Given the description of an element on the screen output the (x, y) to click on. 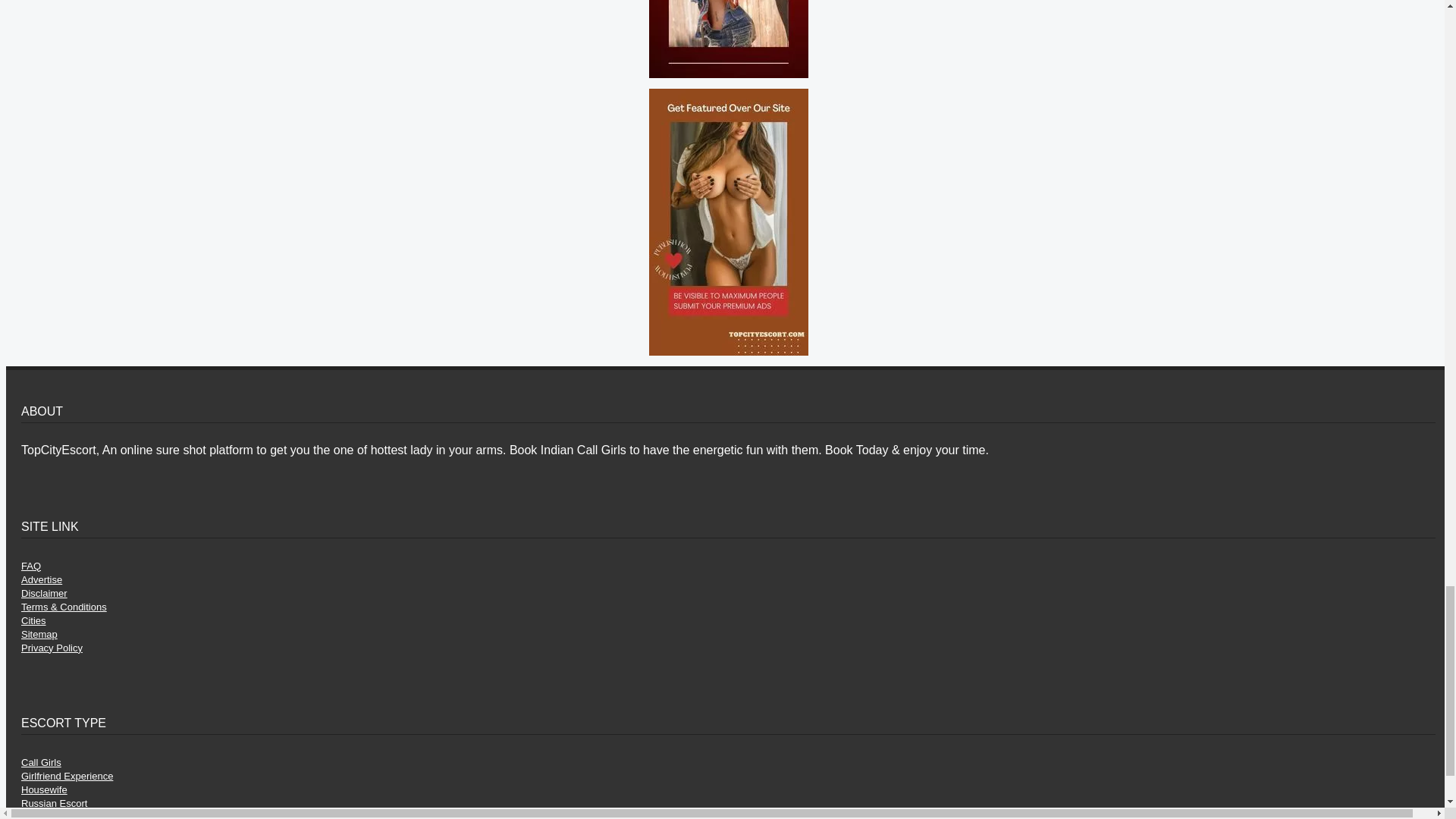
Girlfriend Experience (67, 776)
Advertise (41, 579)
Disclaimer (43, 593)
TS Dating (43, 815)
Privacy Policy (51, 647)
Housewife (43, 789)
Advertise (41, 579)
Call Girls (41, 762)
Disclaimer (43, 593)
Cities (33, 620)
Russian Escort (54, 803)
Sitemap (39, 633)
FAQ (30, 565)
FAQ (30, 565)
